Given the description of an element on the screen output the (x, y) to click on. 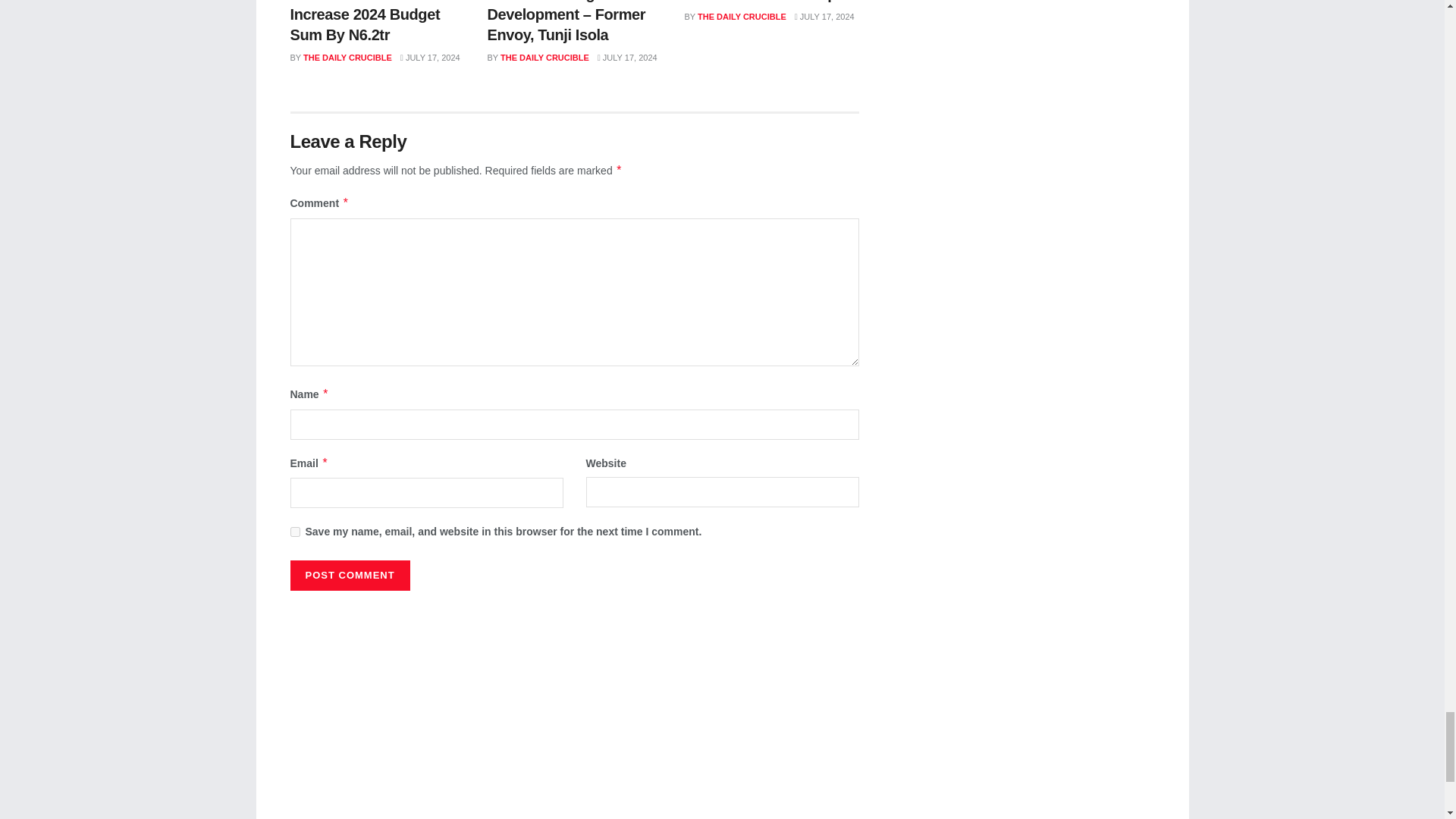
yes (294, 532)
Post Comment (349, 575)
